Given the description of an element on the screen output the (x, y) to click on. 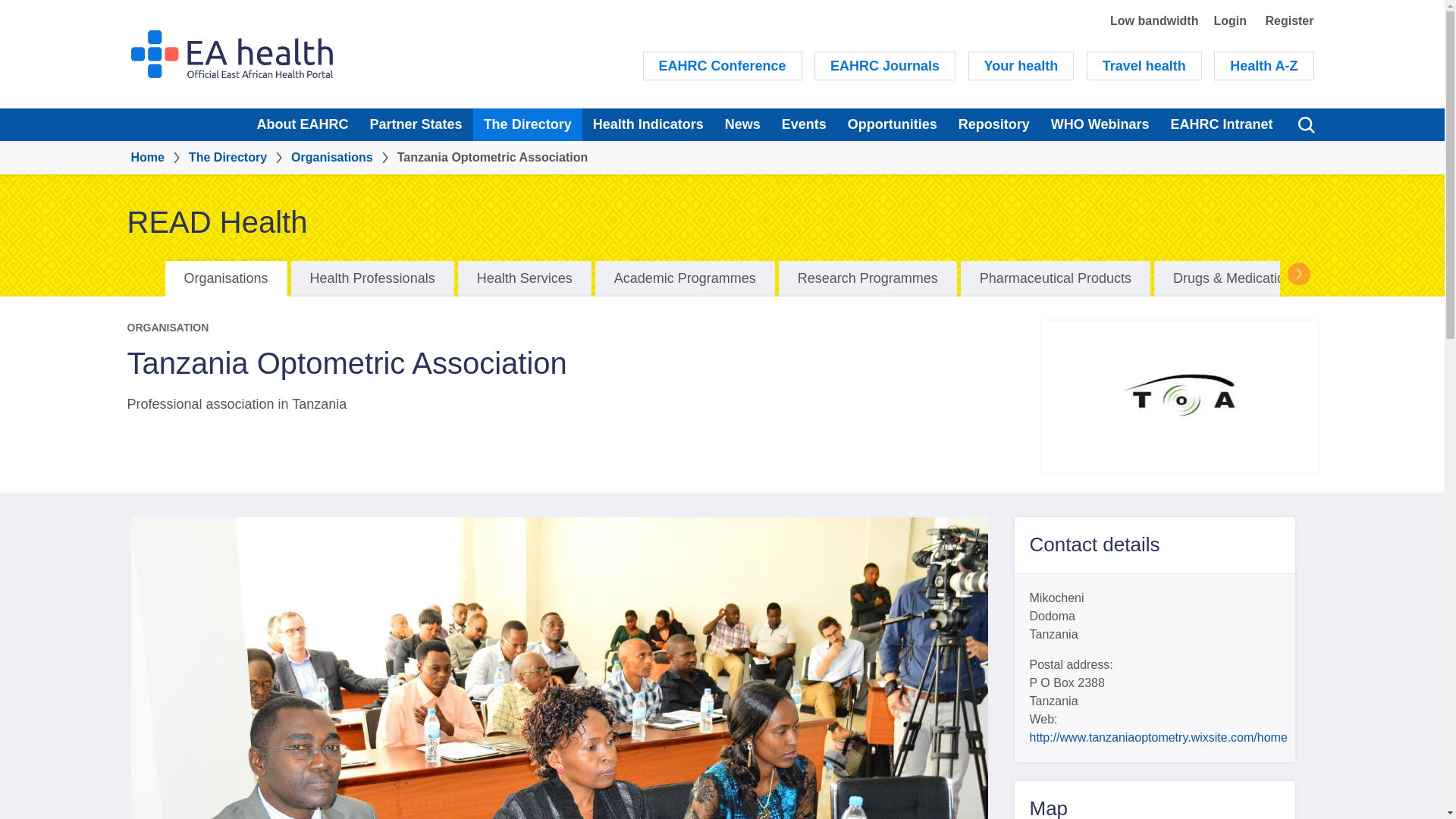
Events (804, 124)
Health Indicators (648, 124)
Register (1289, 20)
EAHRC Conference (722, 65)
Home (231, 53)
Low bandwidth (1153, 20)
Your health (1021, 65)
About EAHRC (302, 124)
Health A-Z (1263, 65)
